Given the description of an element on the screen output the (x, y) to click on. 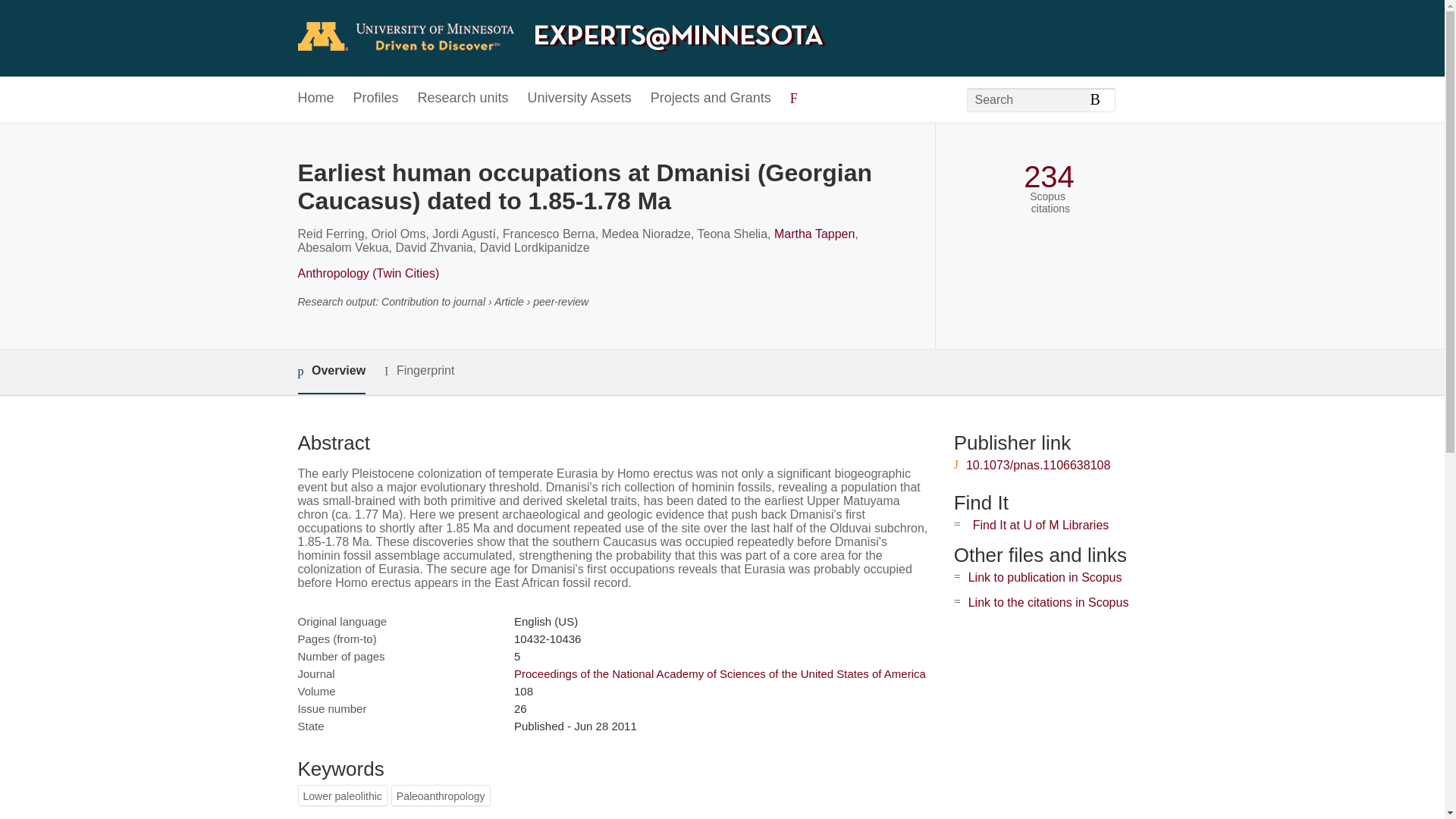
Find It at U of M Libraries (1040, 524)
Overview (331, 371)
Link to publication in Scopus (1045, 576)
Research units (462, 98)
Profiles (375, 98)
Martha Tappen (814, 233)
Fingerprint (419, 371)
234 (1048, 176)
Link to the citations in Scopus (1048, 602)
